Given the description of an element on the screen output the (x, y) to click on. 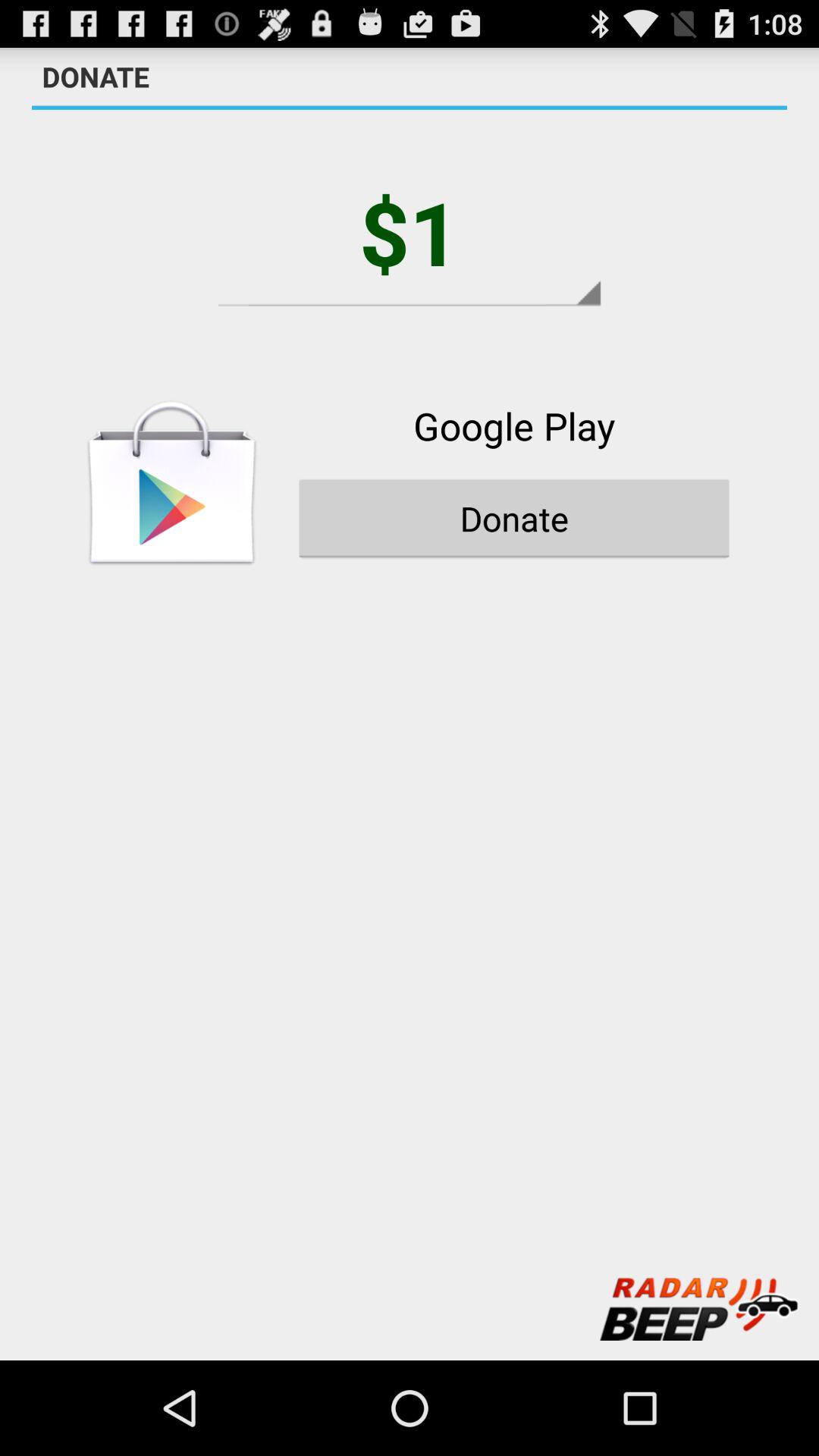
swipe until the $1 (409, 231)
